Given the description of an element on the screen output the (x, y) to click on. 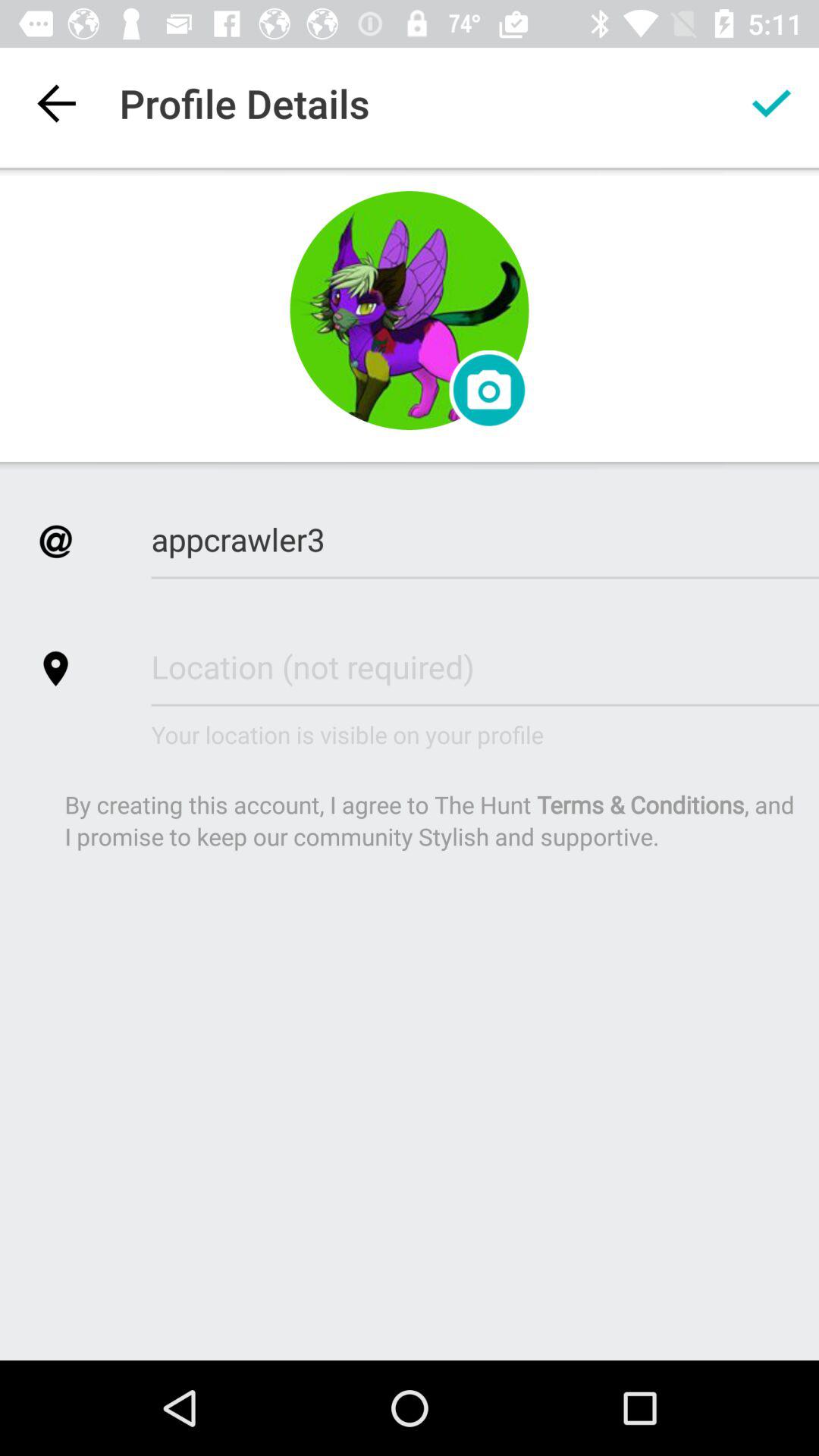
press appcrawler3 icon (485, 538)
